Given the description of an element on the screen output the (x, y) to click on. 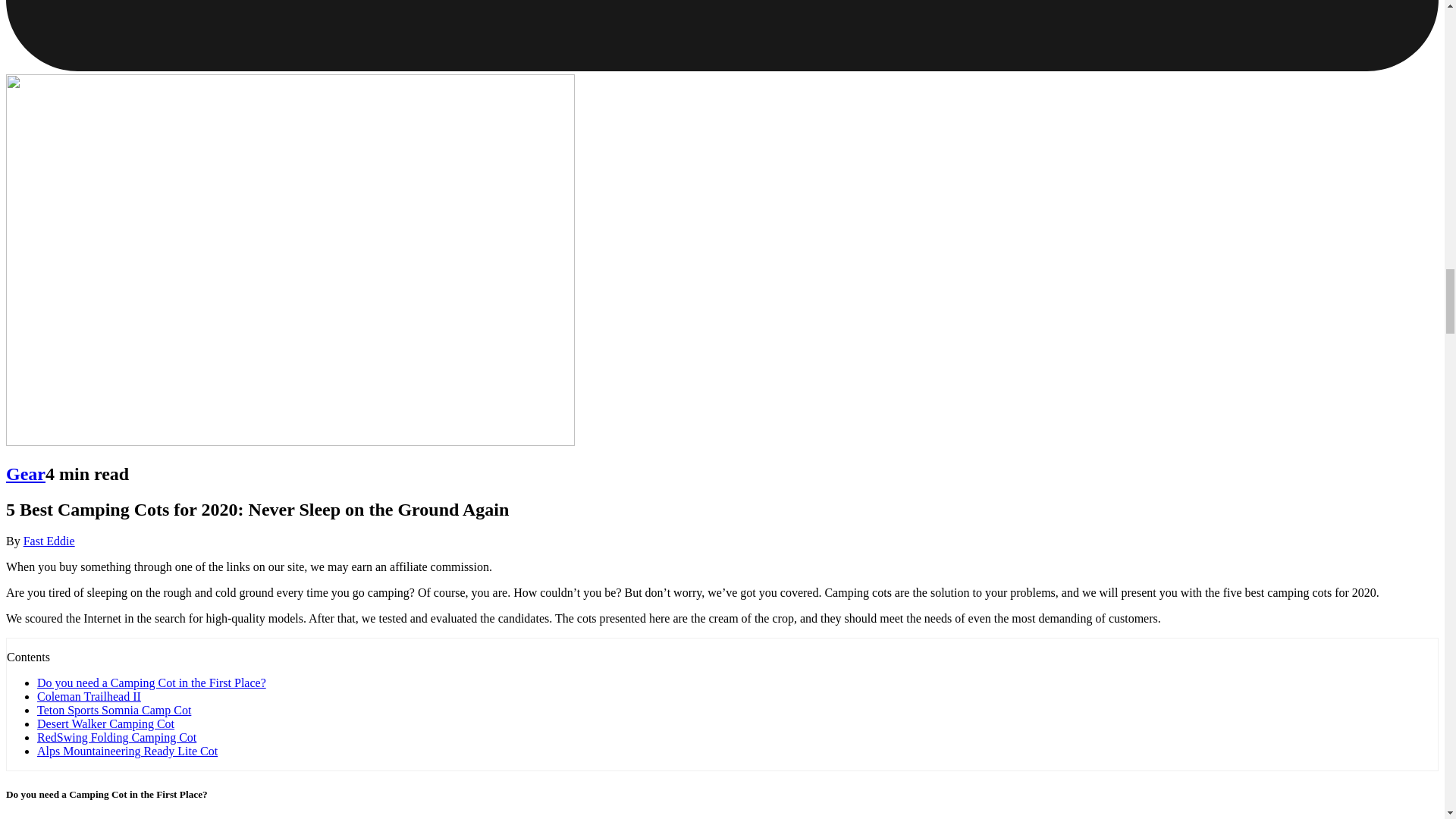
Desert Walker Camping Cot (105, 723)
Teton Sports Somnia Camp Cot (113, 709)
Fast Eddie (49, 540)
Alps Mountaineering Ready Lite Cot (126, 750)
Gear (25, 474)
RedSwing Folding Camping Cot (116, 737)
Coleman Trailhead II (89, 696)
Do you need a Camping Cot in the First Place? (151, 682)
